Given the description of an element on the screen output the (x, y) to click on. 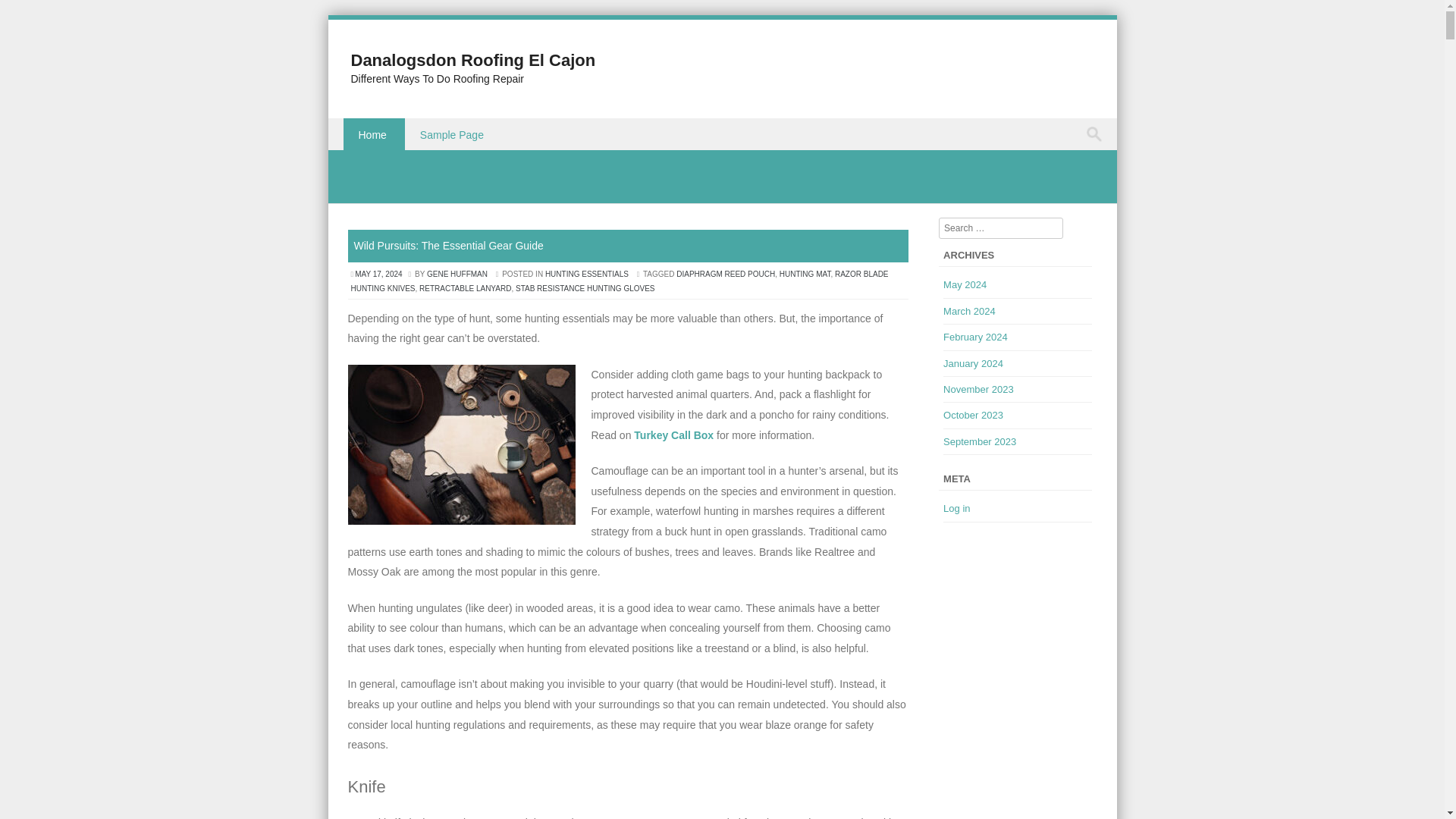
GENE HUFFMAN (456, 274)
Home (373, 133)
MAY 17, 2024 (378, 274)
Danalogsdon Roofing El Cajon (472, 59)
Skip to content (362, 128)
DIAPHRAGM REED POUCH (725, 274)
RETRACTABLE LANYARD (465, 288)
STAB RESISTANCE HUNTING GLOVES (585, 288)
HUNTING MAT (804, 274)
Search for: (1097, 133)
Skip to content (362, 128)
HUNTING ESSENTIALS (586, 274)
RAZOR BLADE HUNTING KNIVES (619, 281)
Wild Pursuits: The Essential Gear Guide (448, 245)
Permalink to Wild Pursuits: The Essential Gear Guide (448, 245)
